Given the description of an element on the screen output the (x, y) to click on. 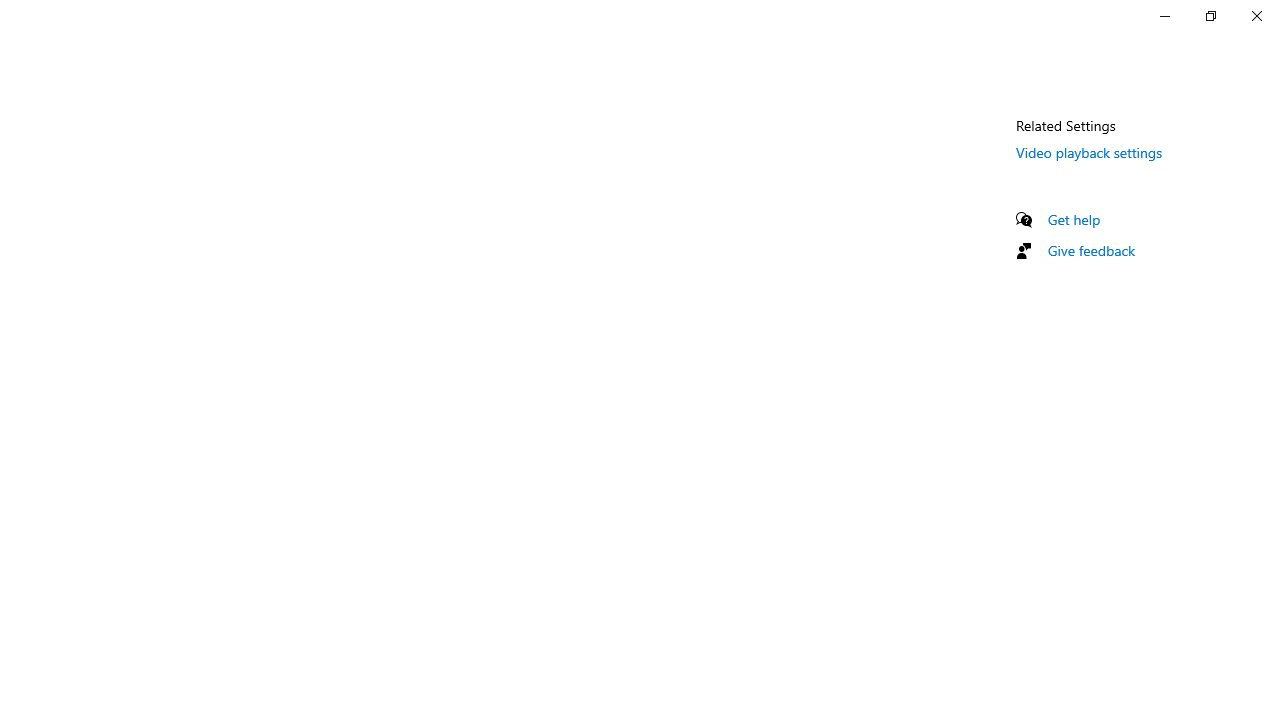
Restore Settings (1210, 15)
Give feedback (1091, 250)
Minimize Settings (1164, 15)
Video playback settings (1089, 152)
Close Settings (1256, 15)
Get help (1074, 219)
